Given the description of an element on the screen output the (x, y) to click on. 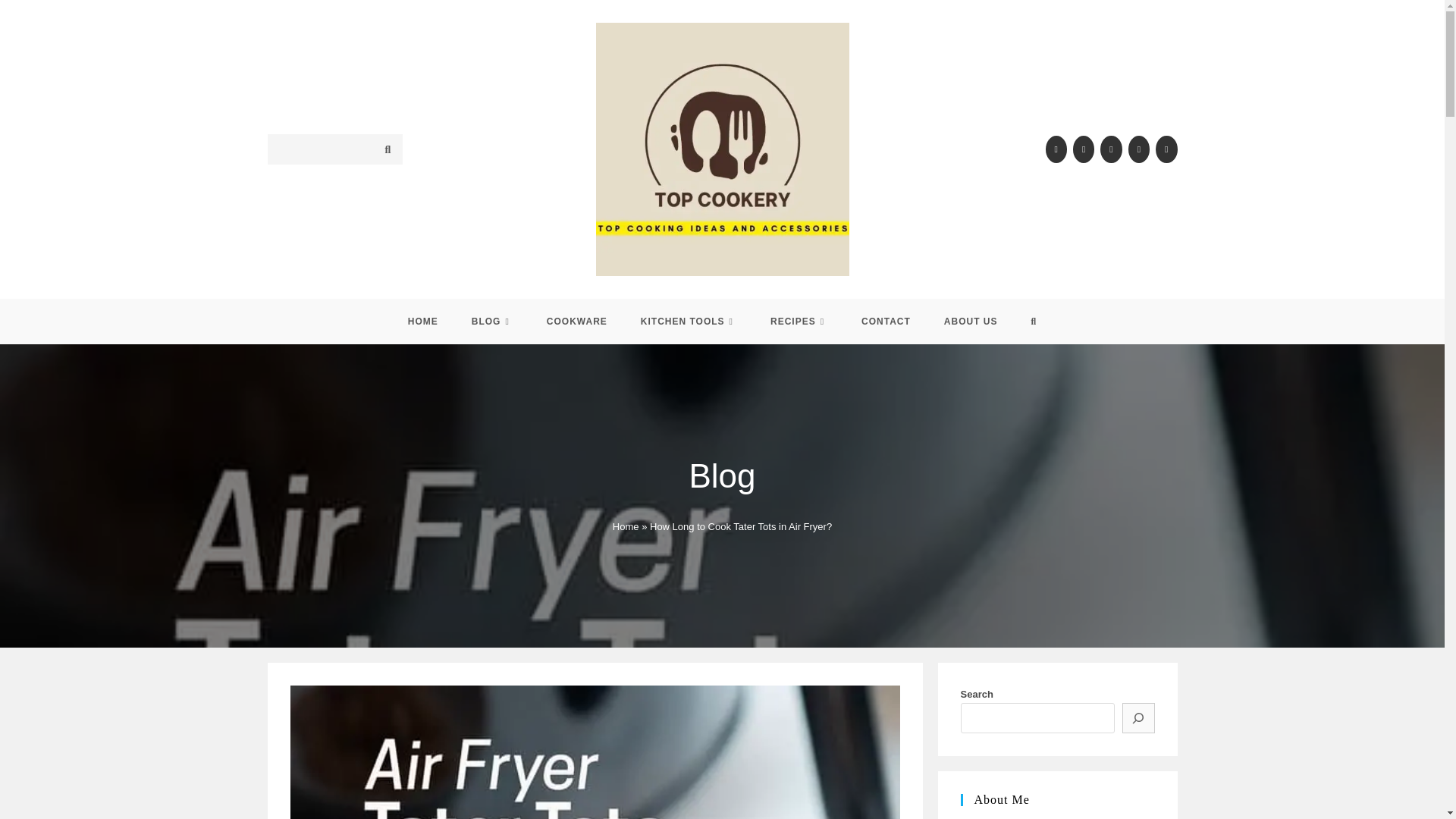
COOKWARE (576, 320)
HOME (422, 320)
ABOUT US (970, 320)
Home (625, 526)
KITCHEN TOOLS (689, 320)
CONTACT (885, 320)
BLOG (491, 320)
RECIPES (799, 320)
